Given the description of an element on the screen output the (x, y) to click on. 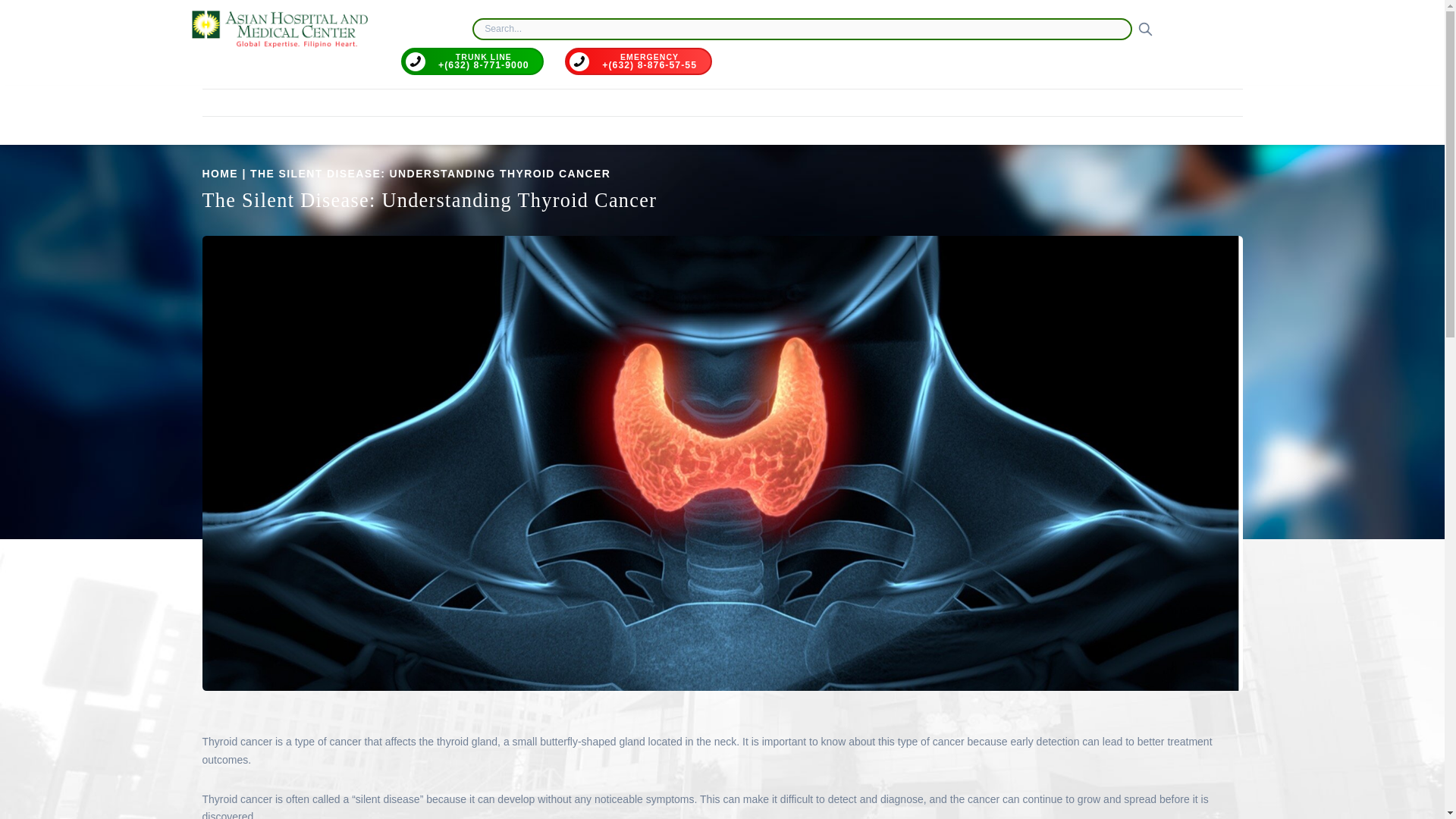
ONLINE SERVICES (1029, 102)
EXPERTISE (595, 102)
FIND A DOCTOR (408, 102)
